Given the description of an element on the screen output the (x, y) to click on. 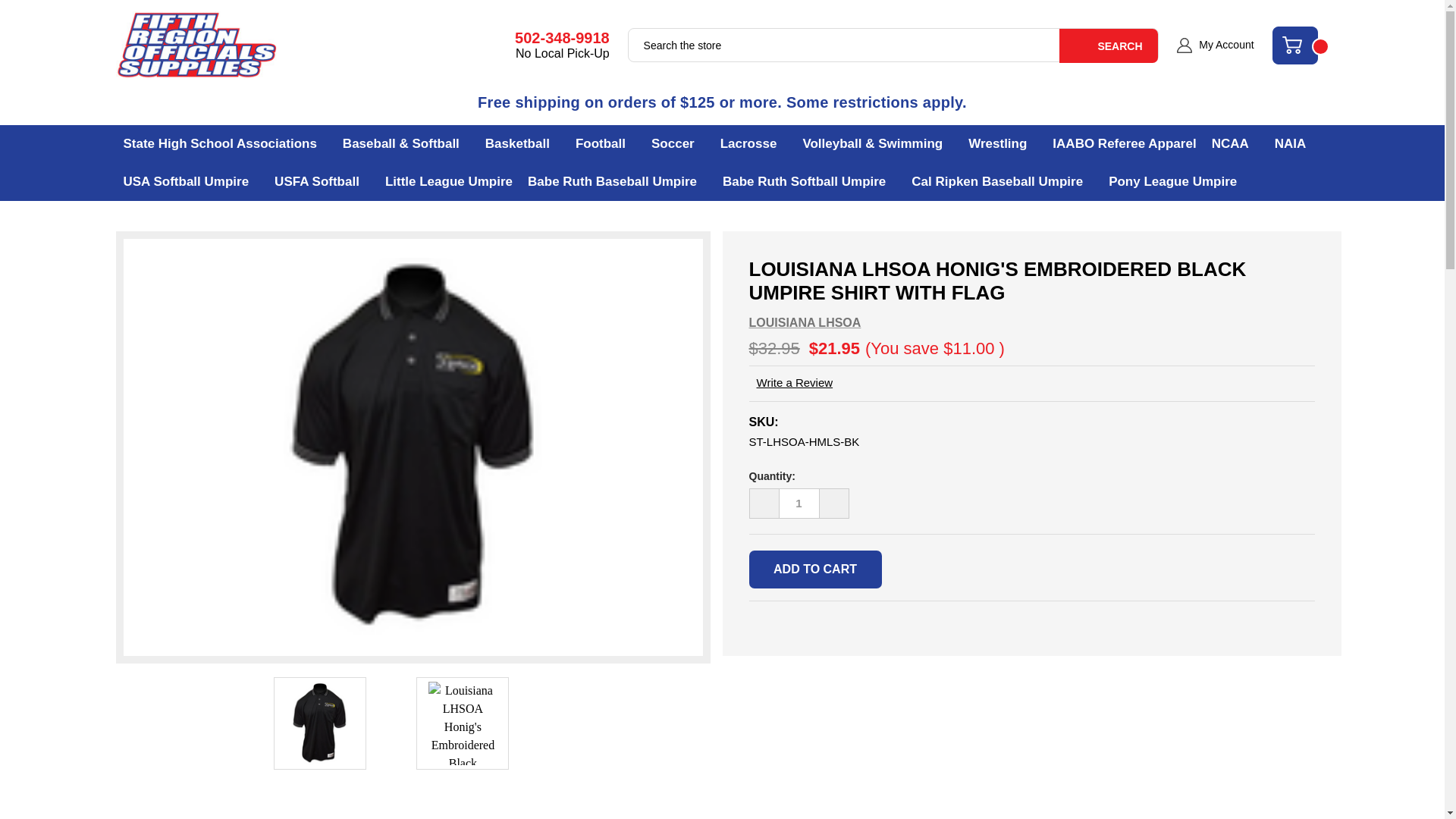
Fifth Region Officials Supplies (195, 45)
Search (1108, 45)
Add to Cart (815, 569)
1 (799, 503)
Search (1108, 45)
My Account (1214, 45)
